Given the description of an element on the screen output the (x, y) to click on. 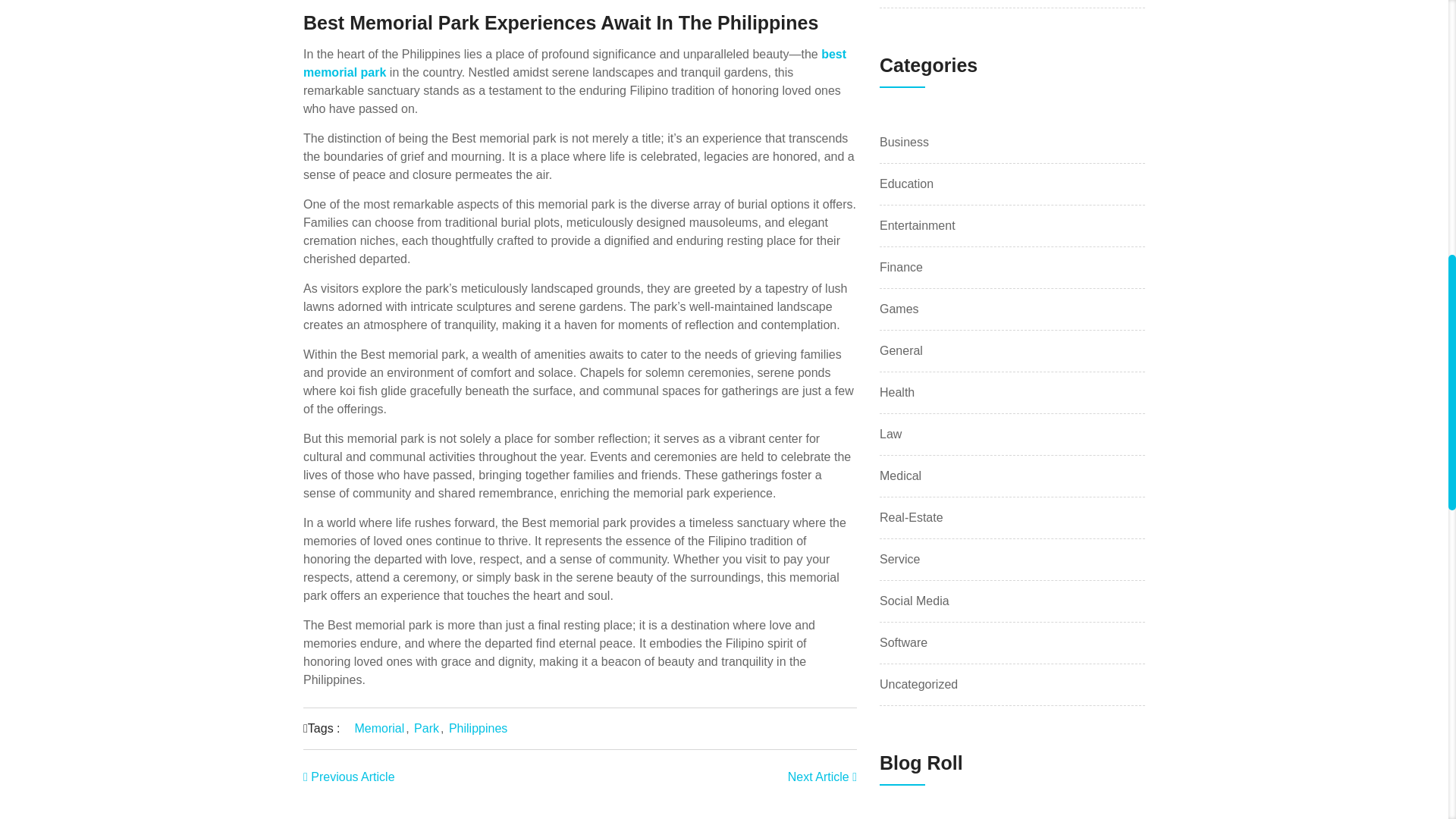
Philippines (477, 727)
Park (426, 727)
Uncategorized (918, 684)
Memorial (378, 727)
Service (899, 559)
Games (898, 309)
Health (896, 393)
Entertainment (917, 226)
Education (906, 184)
Previous Article (348, 776)
